Given the description of an element on the screen output the (x, y) to click on. 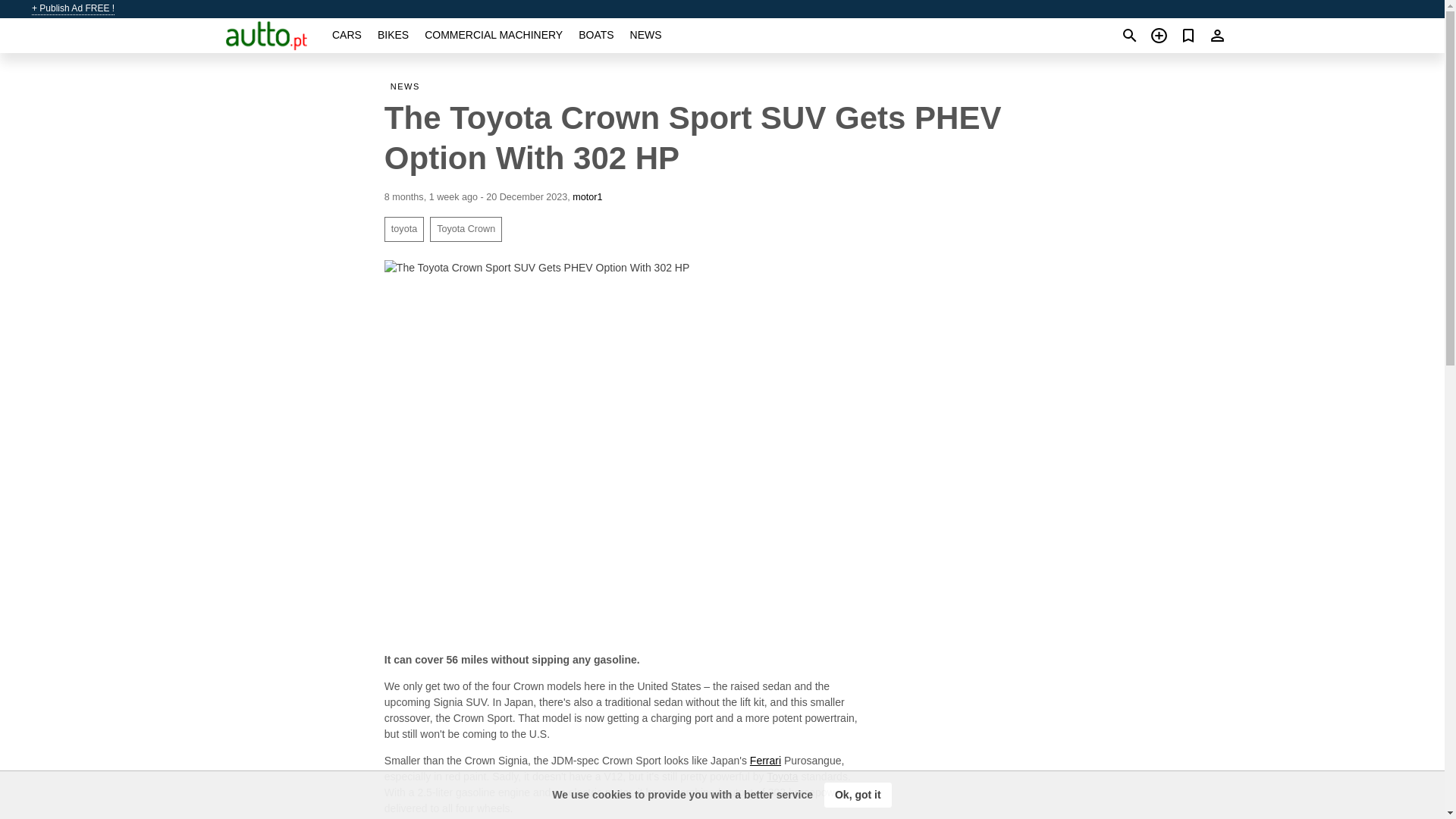
toyota (403, 229)
Ferrari (764, 760)
NEWS (408, 86)
COMMERCIAL MACHINERY (493, 35)
BUY USED Toyota IN  PORTUGAL (782, 776)
NEWS (646, 35)
Ok, got it (858, 795)
motor1 (587, 196)
Toyota (782, 776)
BOATS (595, 35)
